Given the description of an element on the screen output the (x, y) to click on. 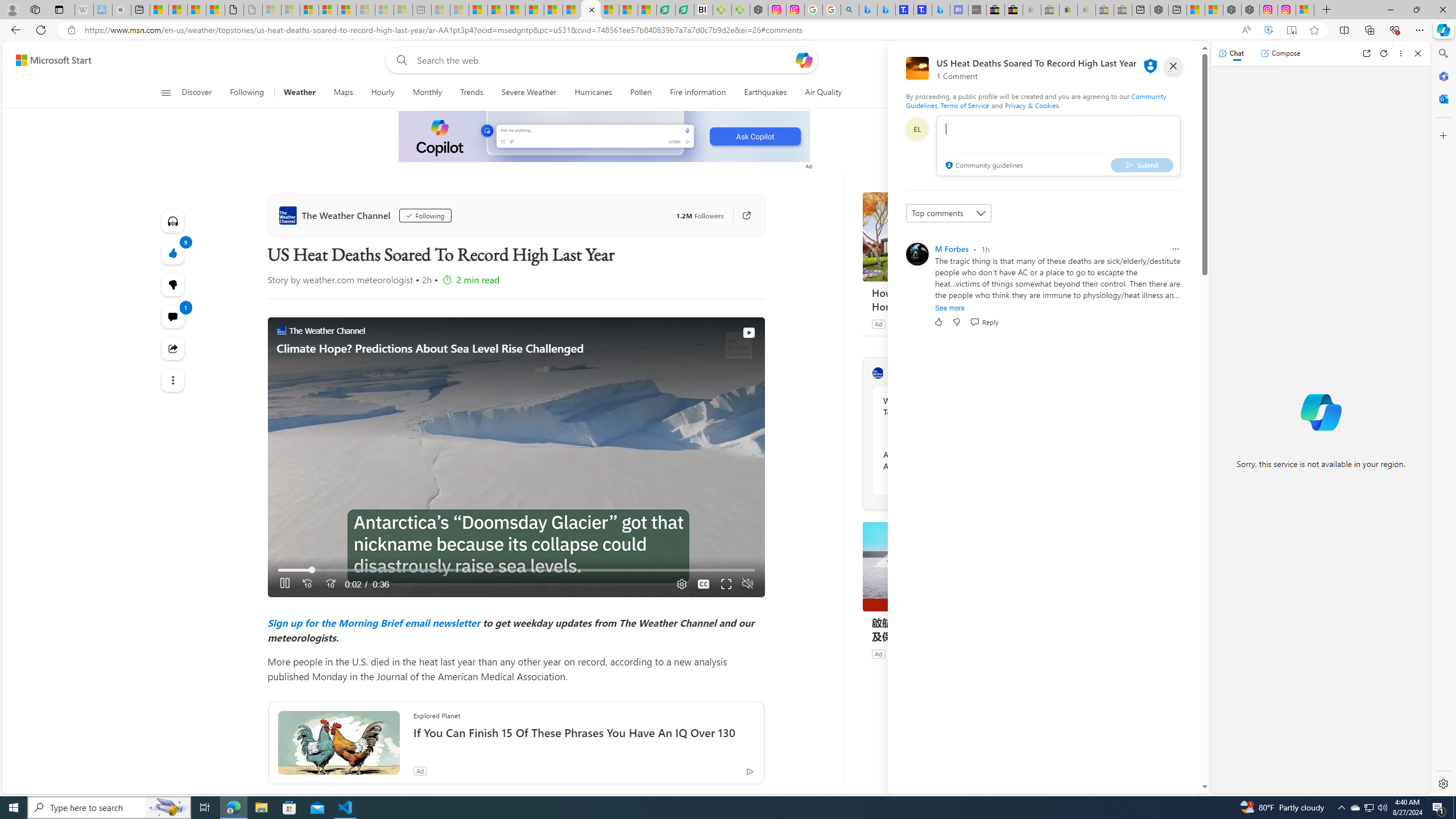
Marine life - MSN - Sleeping (459, 9)
Foo BAR | Trusted Community Engagement and Contributions (571, 9)
Safety in Our Products - Google Safety Center (813, 9)
Drinking tea every day is proven to delay biological aging (533, 9)
Aberdeen, Hong Kong SAR severe weather | Microsoft Weather (215, 9)
Pause (285, 583)
Report comment (1175, 249)
